Given the description of an element on the screen output the (x, y) to click on. 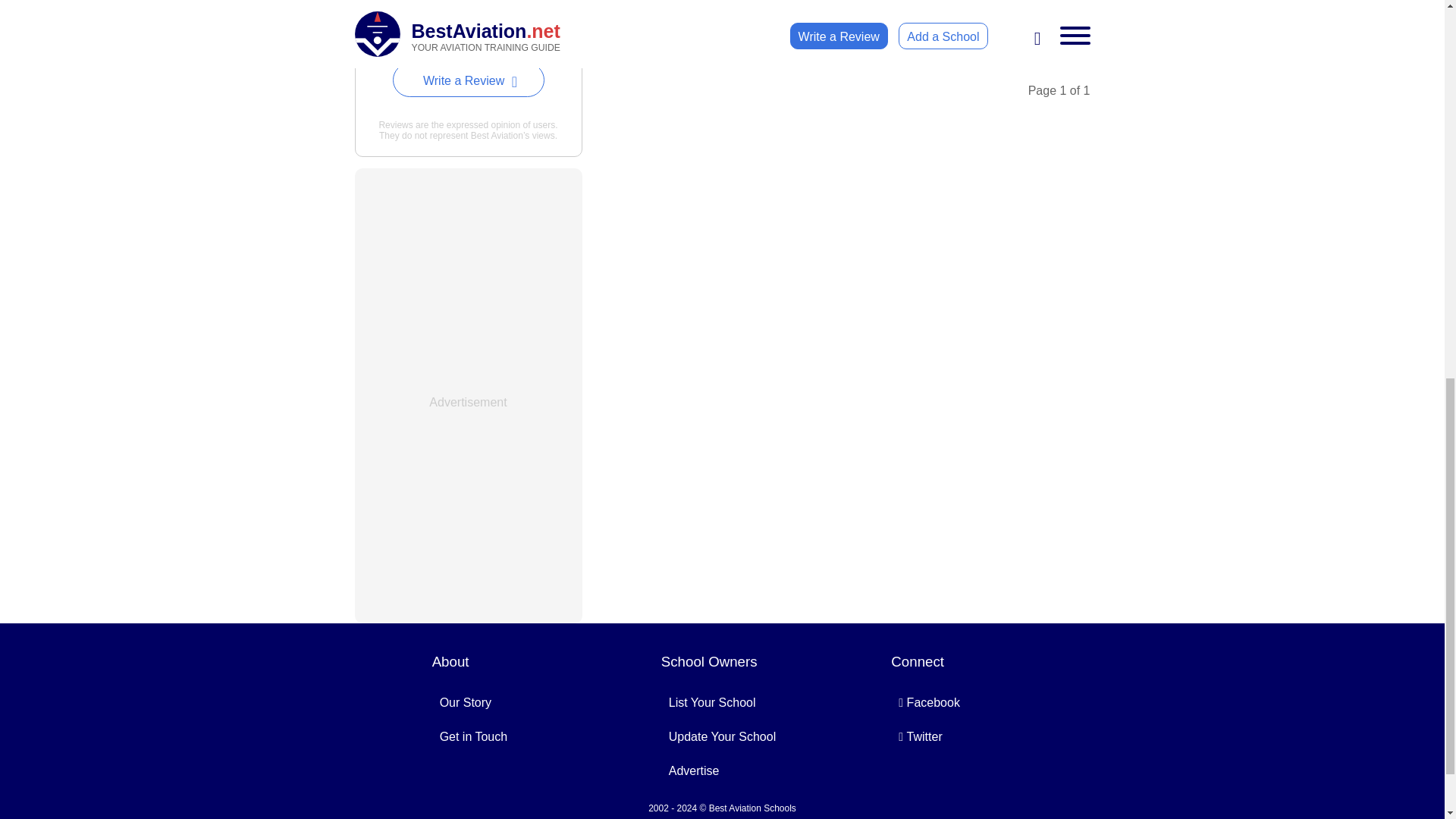
AeroStar Training Services, LLC (656, 23)
Our Story (465, 702)
AeroStar Training Services, LLC (458, 11)
Write a Review (468, 80)
Queens Aviation (1217, 3)
Update Your School (722, 736)
Get in Touch (473, 736)
Advertise (693, 770)
Twitter (920, 736)
AeroStar Training Services, LLC (458, 11)
Facebook (929, 702)
List Your School (711, 702)
Ethiopian Avaition Academy (1050, 15)
AeroStar Training Services, LLC (656, 23)
